Given the description of an element on the screen output the (x, y) to click on. 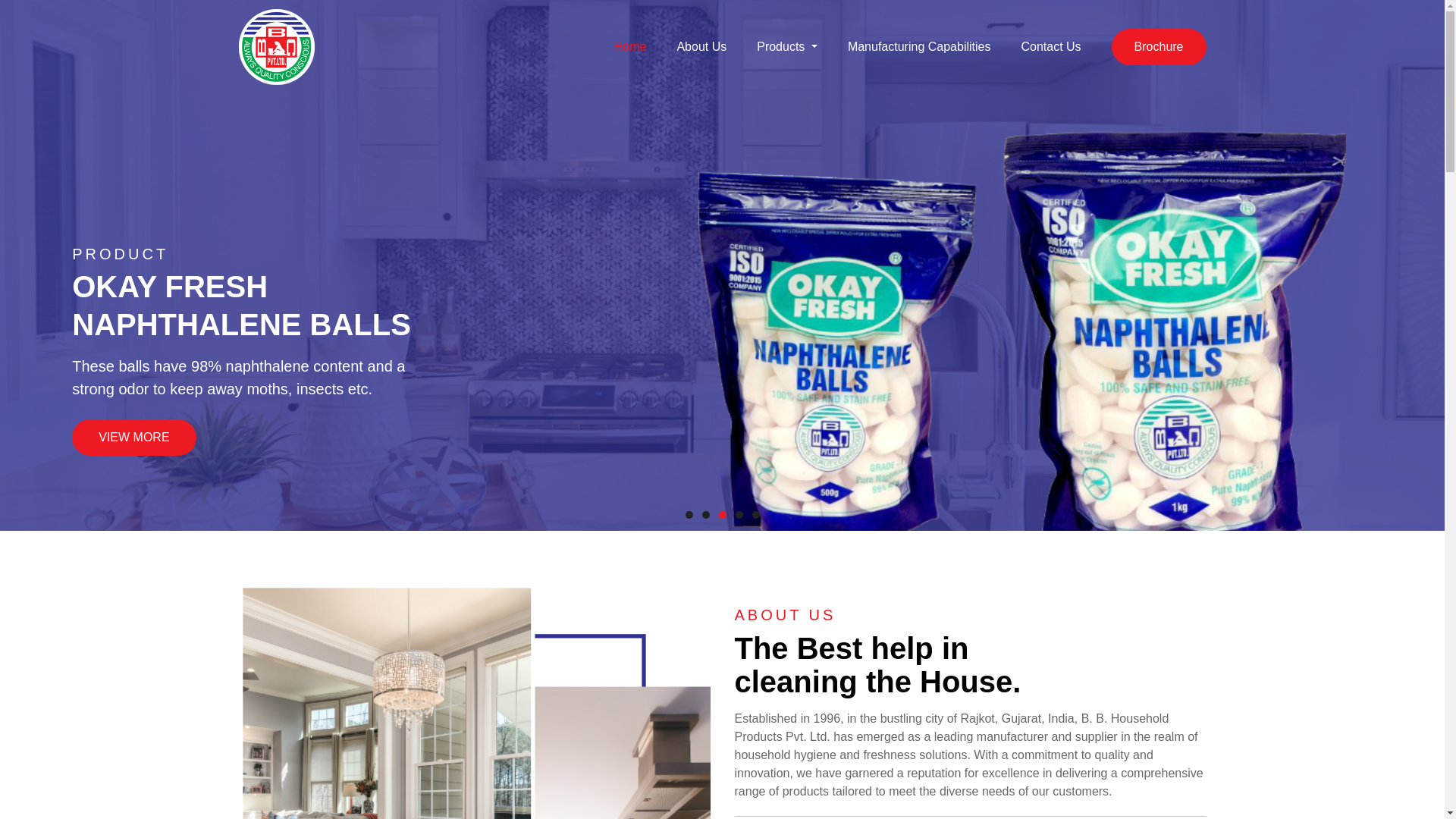
Contact Us (1050, 46)
VIEW MORE (133, 437)
Brochure (1159, 46)
Products (786, 46)
Manufacturing Capabilities (919, 46)
